Given the description of an element on the screen output the (x, y) to click on. 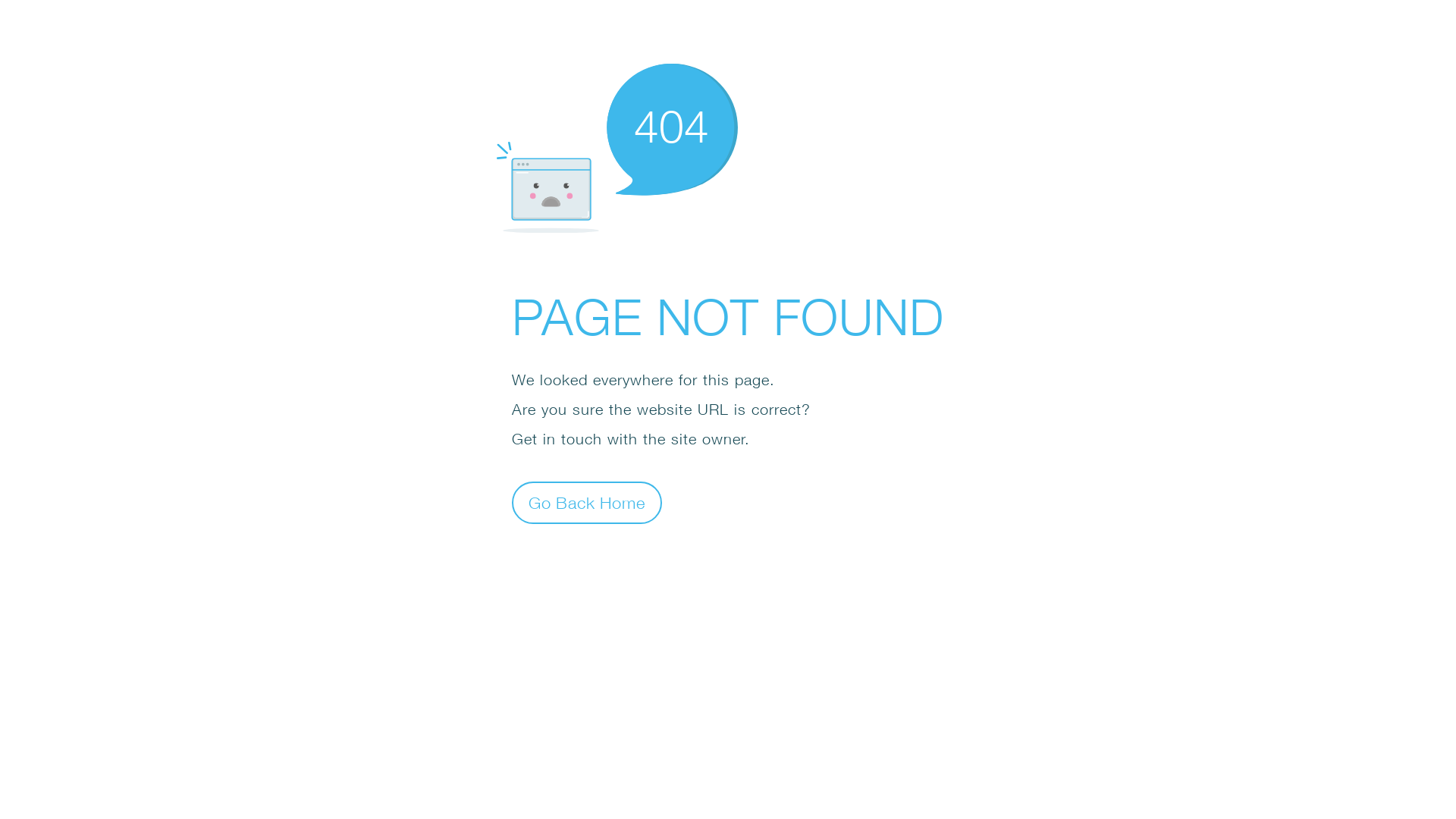
Go Back Home Element type: text (586, 502)
